Given the description of an element on the screen output the (x, y) to click on. 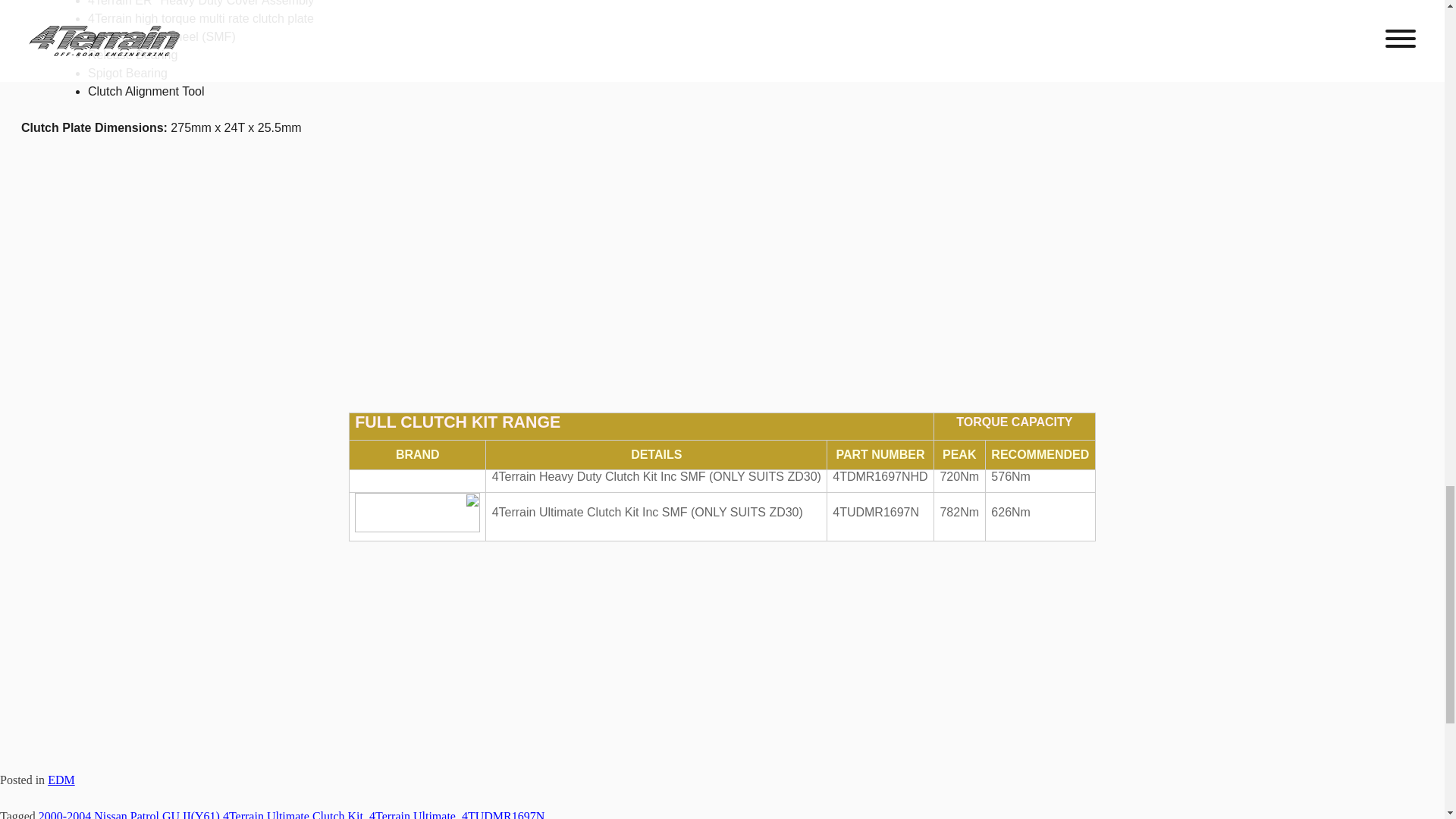
EDM (61, 779)
4TUDMR1697N (502, 814)
4Terrain Ultimate (412, 814)
